Given the description of an element on the screen output the (x, y) to click on. 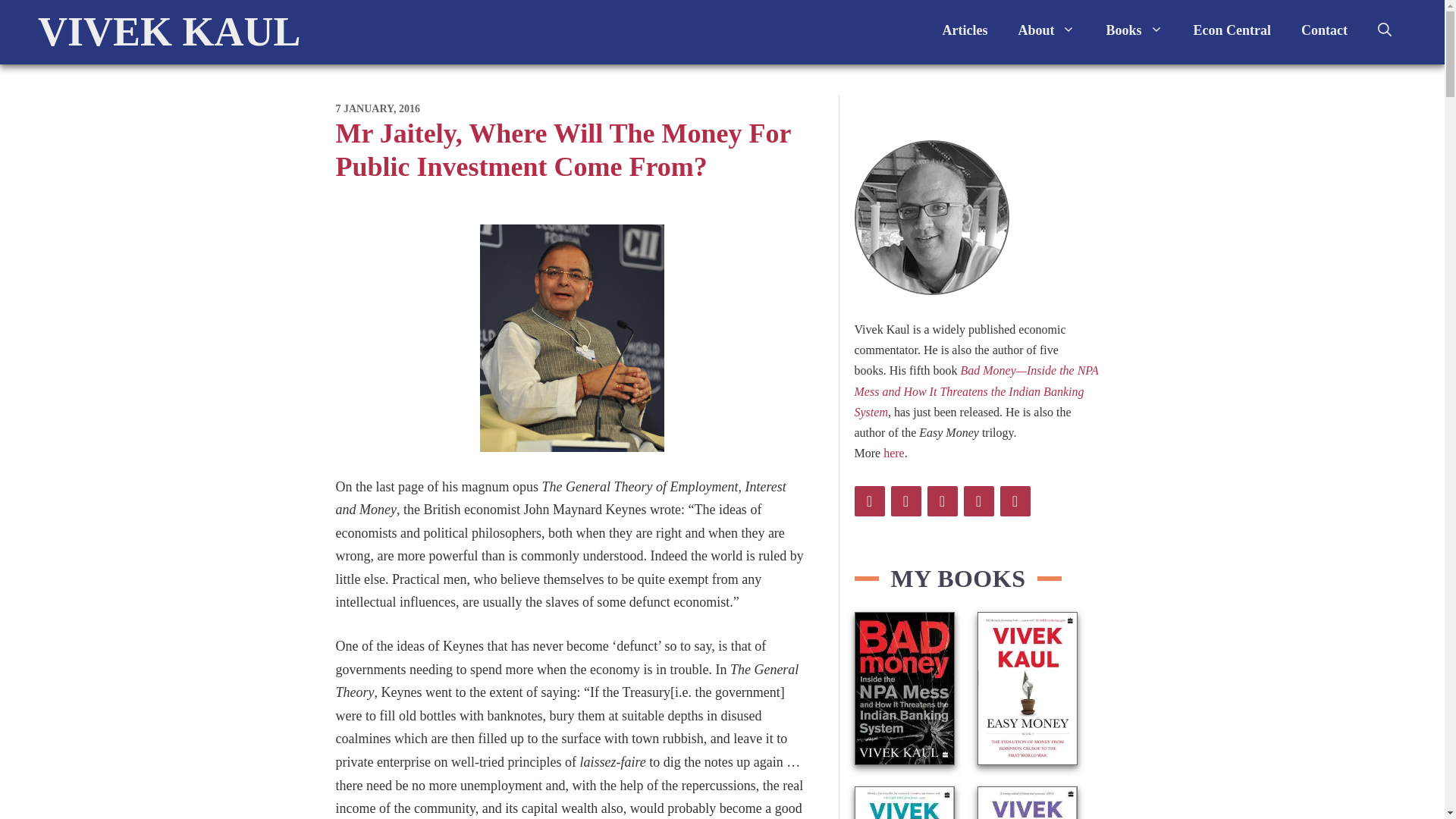
Books written by Vivek Kaul (1133, 30)
Econ Central (1232, 30)
Articles (964, 30)
About (1046, 30)
Books (1133, 30)
Contact (1323, 30)
Get in touch  (1323, 30)
VIVEK KAUL (169, 31)
